Given the description of an element on the screen output the (x, y) to click on. 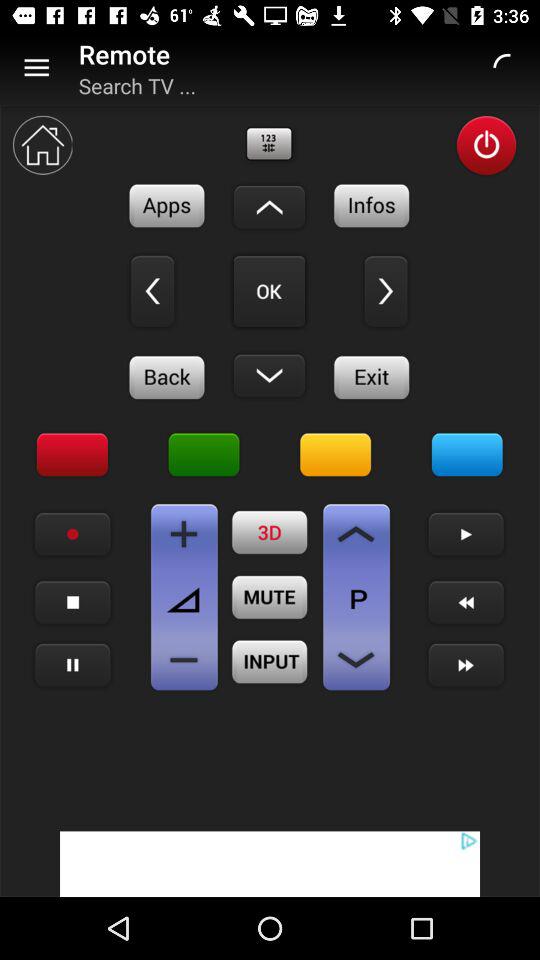
3d button (269, 532)
